Given the description of an element on the screen output the (x, y) to click on. 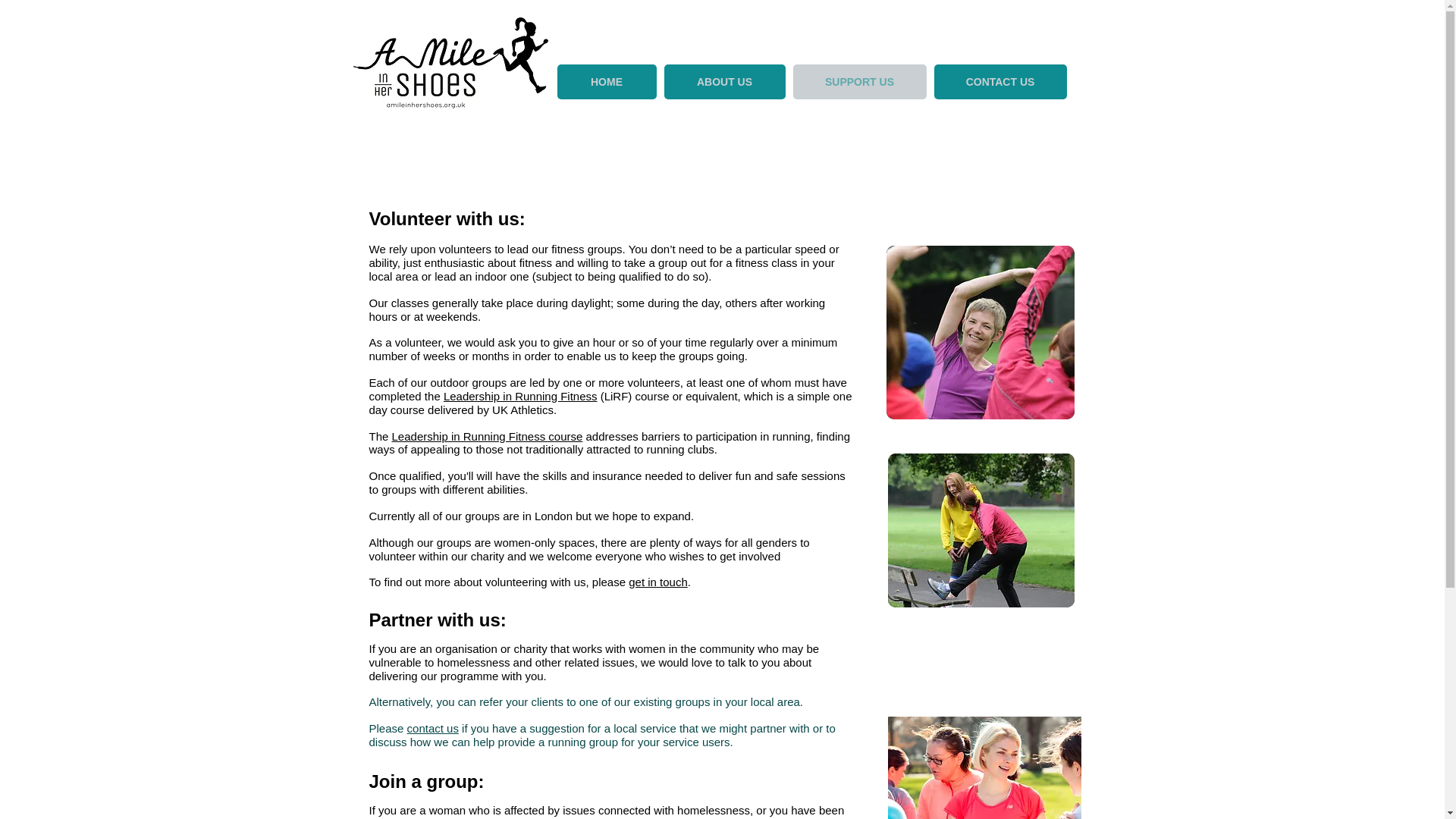
Leadership in Running Fitness course (487, 436)
Leadership in Running Fitness (520, 395)
contact us (432, 727)
ABOUT US (724, 81)
get in touch (657, 581)
SUPPORT US (859, 81)
CONTACT US (1000, 81)
AMIHS logo (450, 62)
HOME (606, 81)
